Given the description of an element on the screen output the (x, y) to click on. 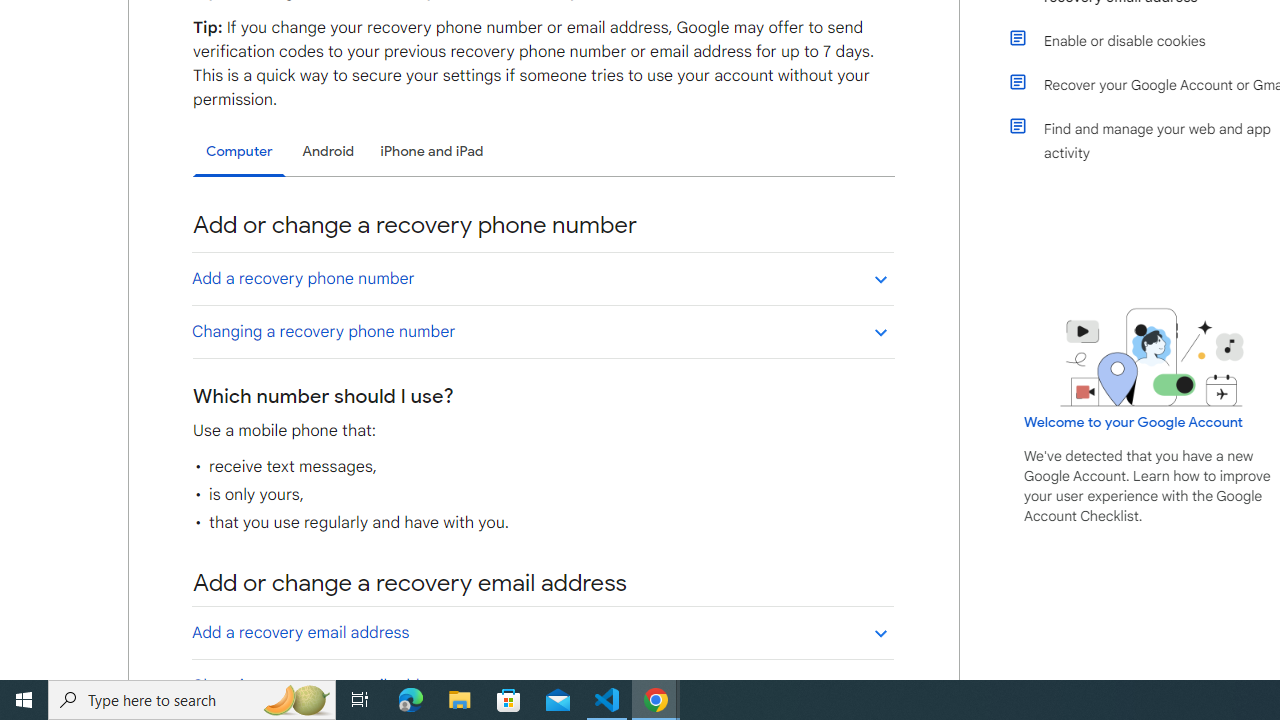
iPhone and iPad (431, 151)
Add a recovery email address (542, 632)
Learning Center home page image (1152, 357)
Changing a recovery email address (542, 685)
Welcome to your Google Account (1134, 422)
Add a recovery phone number (542, 278)
Changing a recovery phone number (542, 331)
Android (328, 151)
Computer (239, 152)
